Given the description of an element on the screen output the (x, y) to click on. 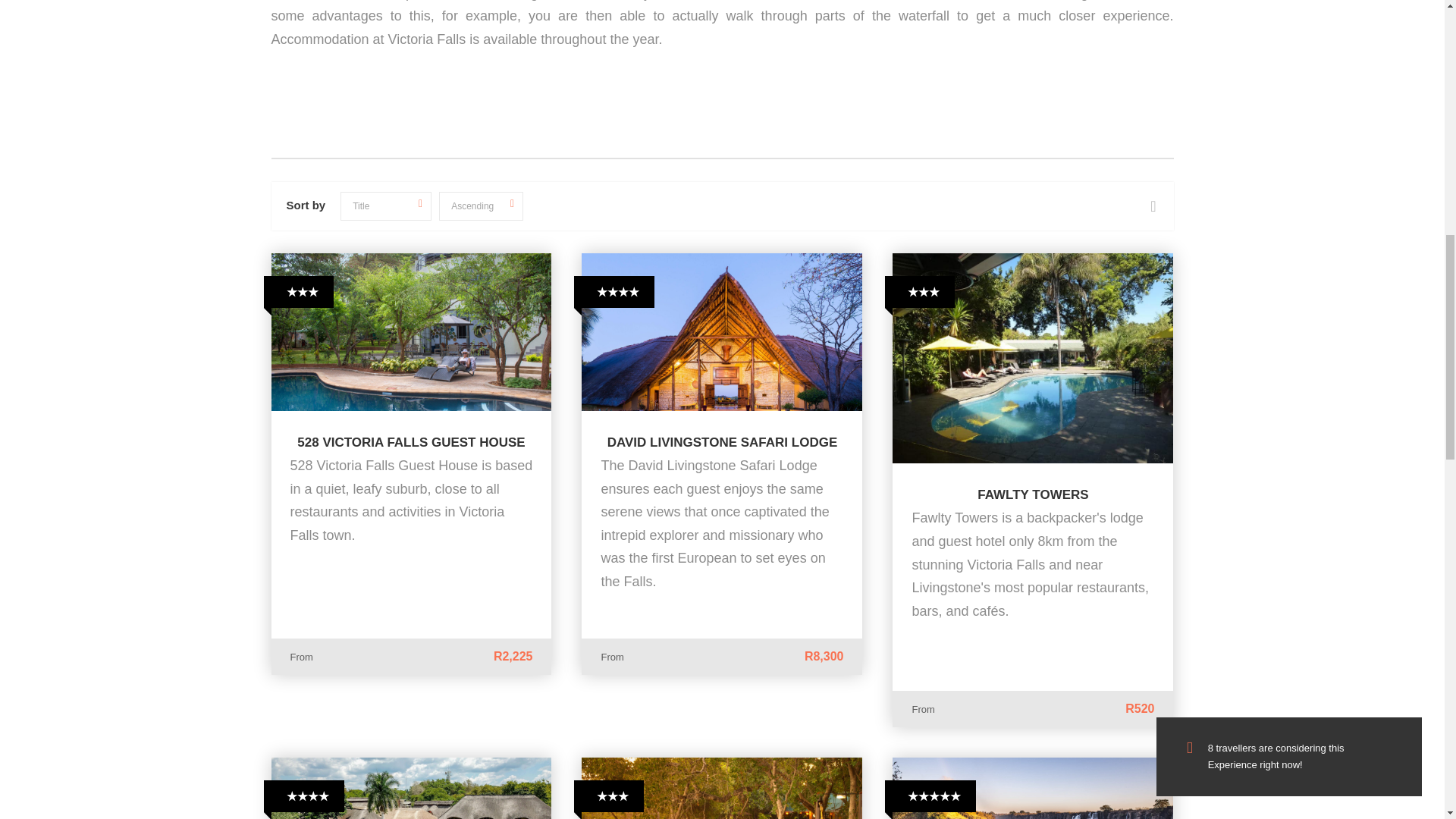
528 VICTORIA FALLS GUEST HOUSE (410, 441)
FAWLTY TOWERS (1031, 494)
DAVID LIVINGSTONE SAFARI LODGE (722, 441)
